Given the description of an element on the screen output the (x, y) to click on. 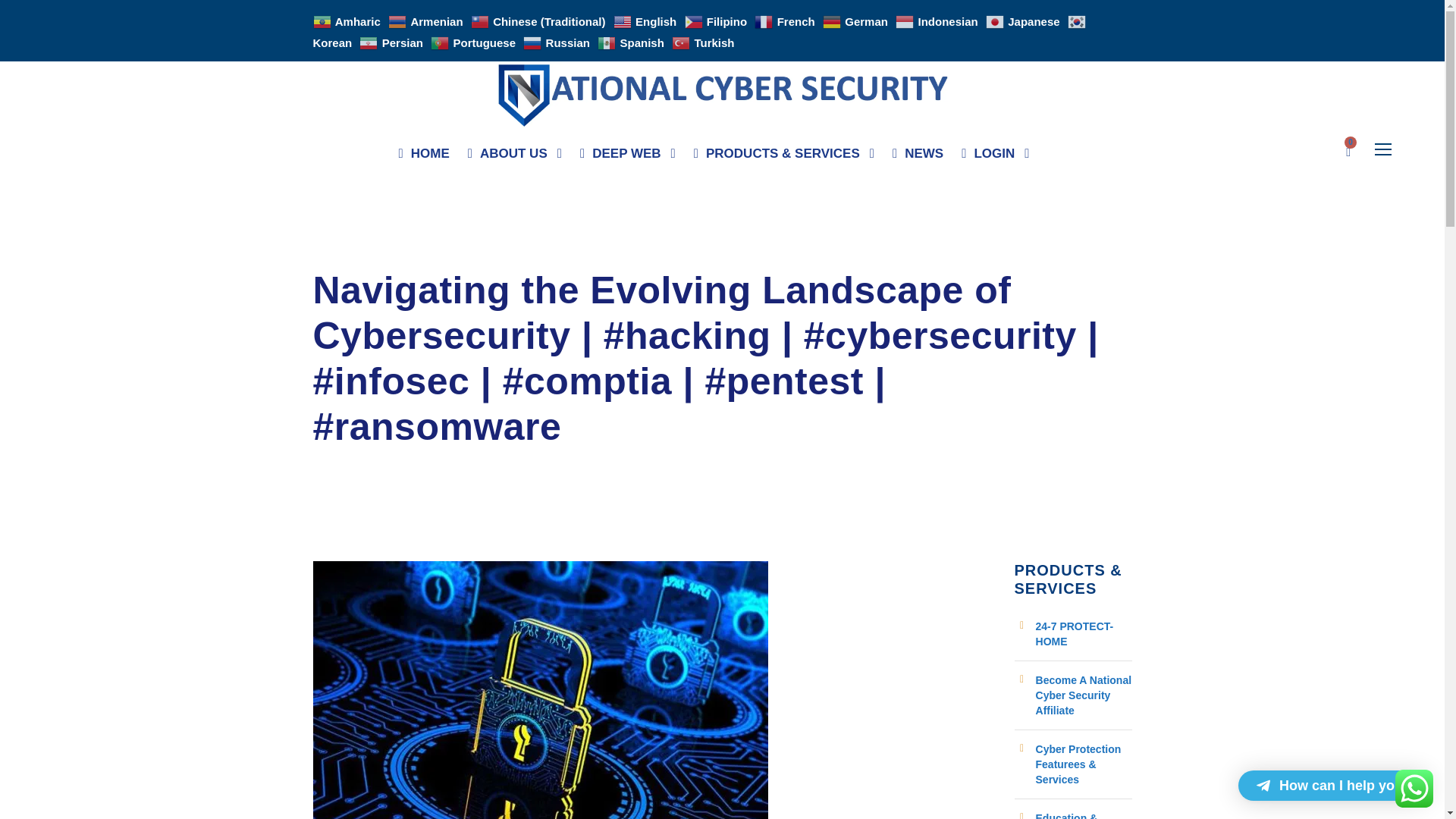
Posts by Natioinal Cyber Security Training Academy Corp (443, 254)
